Given the description of an element on the screen output the (x, y) to click on. 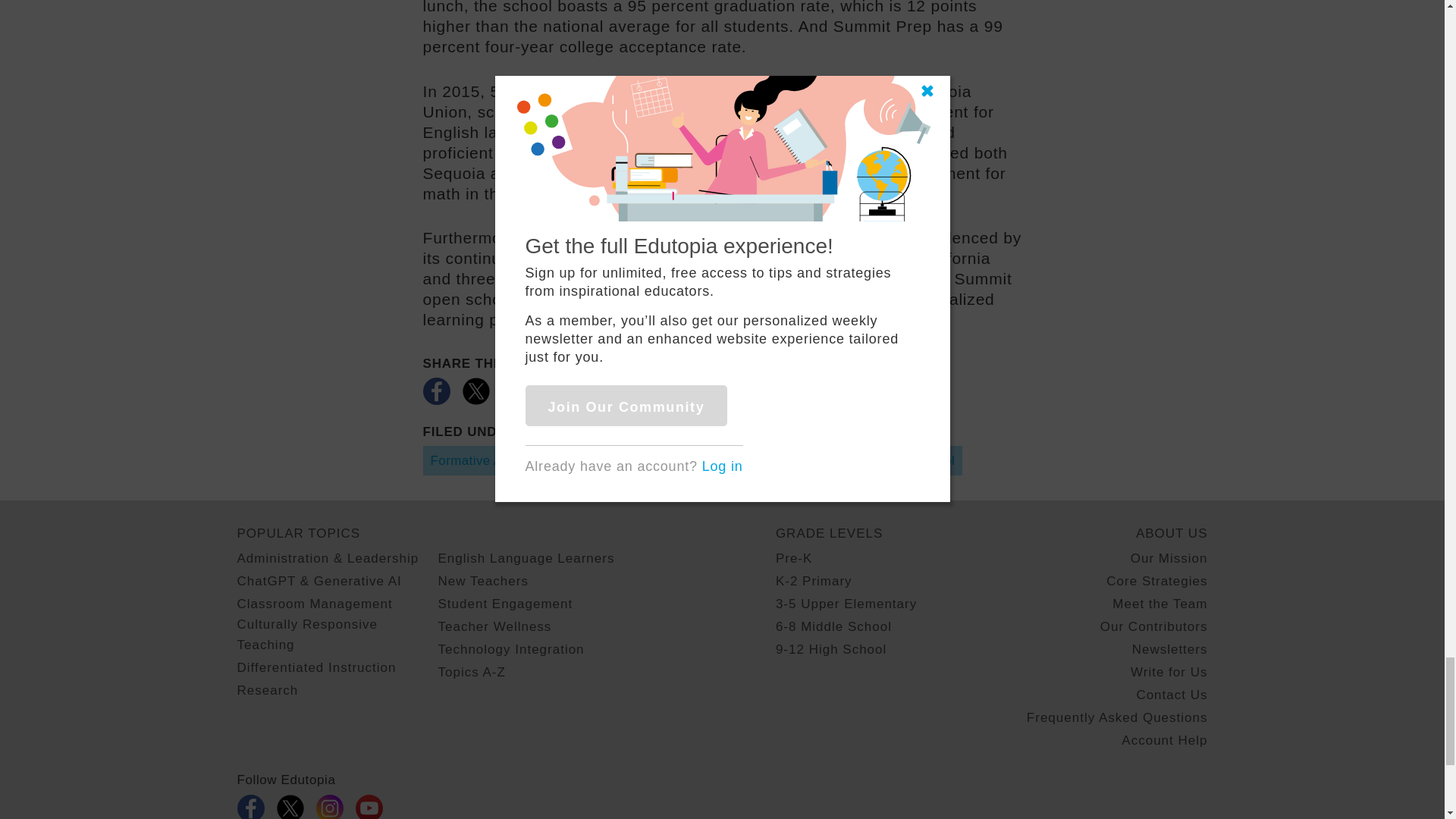
9-12 High School (902, 460)
Research (266, 690)
Classroom Management (313, 603)
English Language Learners (526, 557)
Assessment (623, 460)
Culturally Responsive Teaching (336, 634)
Differentiated Instruction (315, 667)
New Teachers (483, 580)
Differentiated Instruction (756, 460)
Formative Assessment (499, 460)
